Given the description of an element on the screen output the (x, y) to click on. 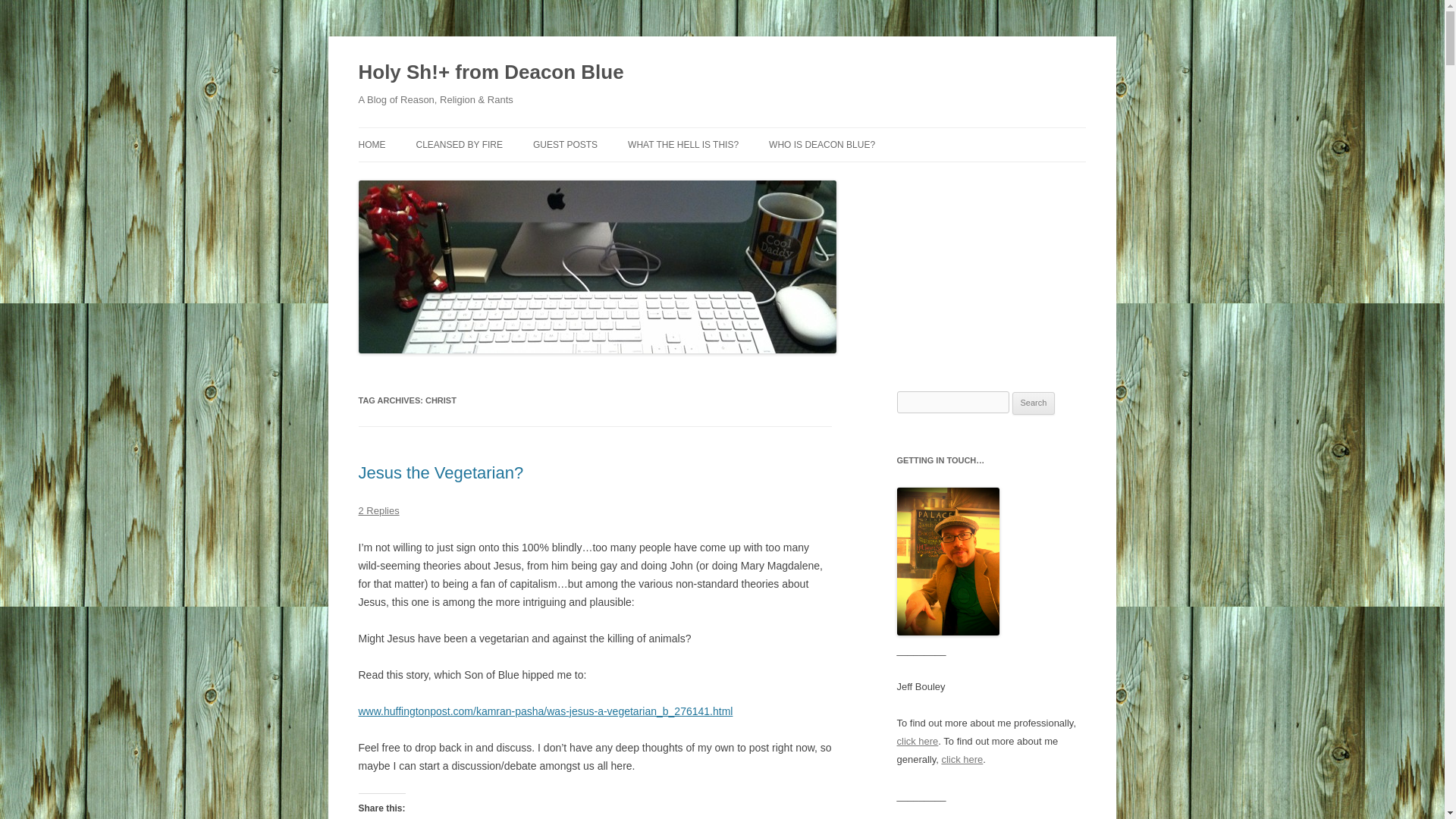
GUEST POSTS (564, 144)
WHO IS DEACON BLUE? (821, 144)
CAST OF CHARACTERS (844, 176)
WHAT THE HELL IS THIS? (682, 144)
Search (1033, 403)
Jesus the Vegetarian? (440, 472)
2 Replies (378, 510)
CLEANSED BY FIRE (458, 144)
ARTIFICIAL INTELLIGENCE (490, 176)
